Given the description of an element on the screen output the (x, y) to click on. 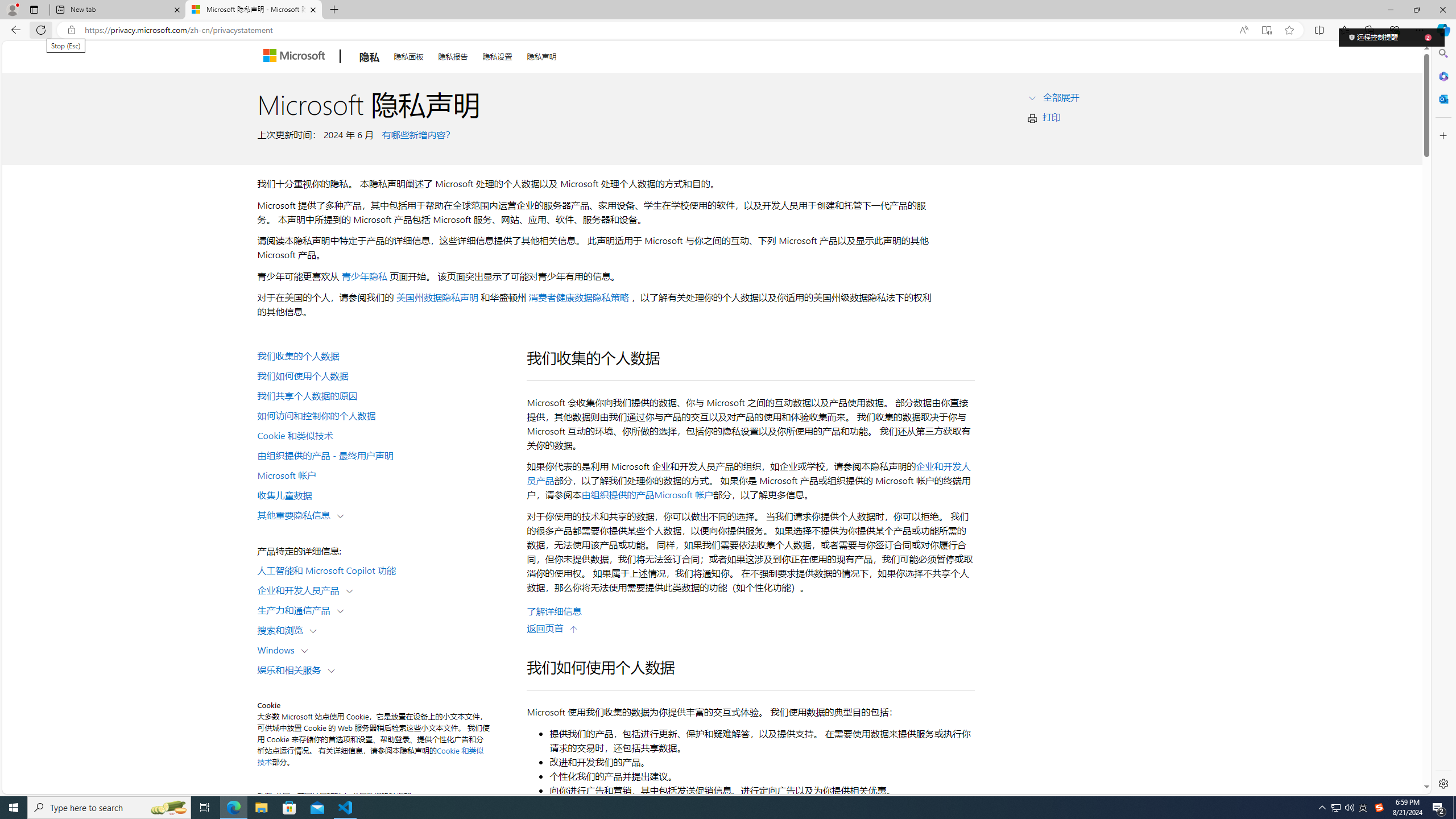
Customize (1442, 135)
Side bar (1443, 418)
